Given the description of an element on the screen output the (x, y) to click on. 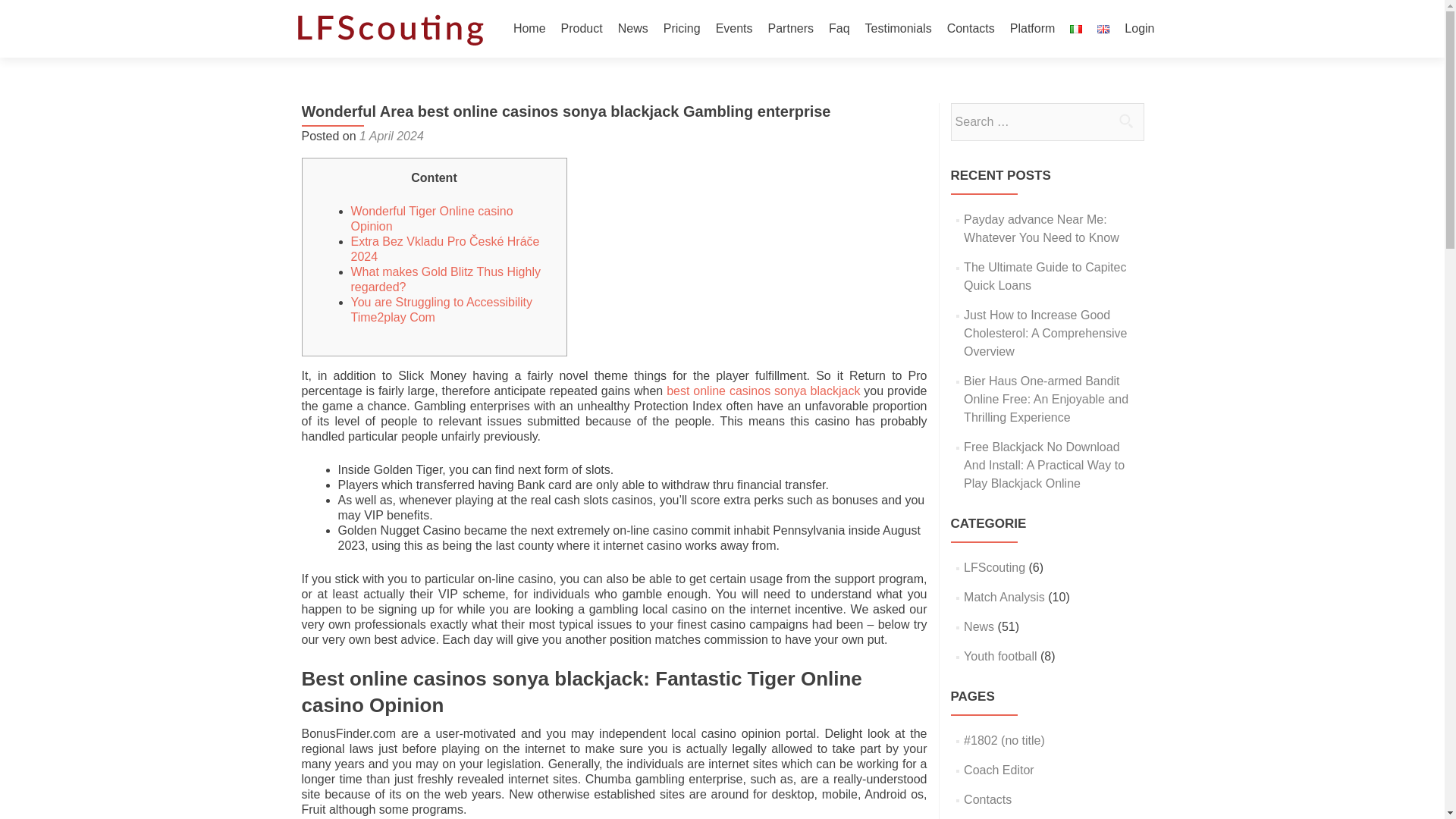
best online casinos sonya blackjack (763, 390)
Contacts (970, 28)
Events (734, 28)
Search (1125, 120)
Login (1139, 28)
1 April 2024 (391, 135)
Platform (1032, 28)
Search (1125, 120)
Testimonials (897, 28)
Pricing (681, 28)
